Given the description of an element on the screen output the (x, y) to click on. 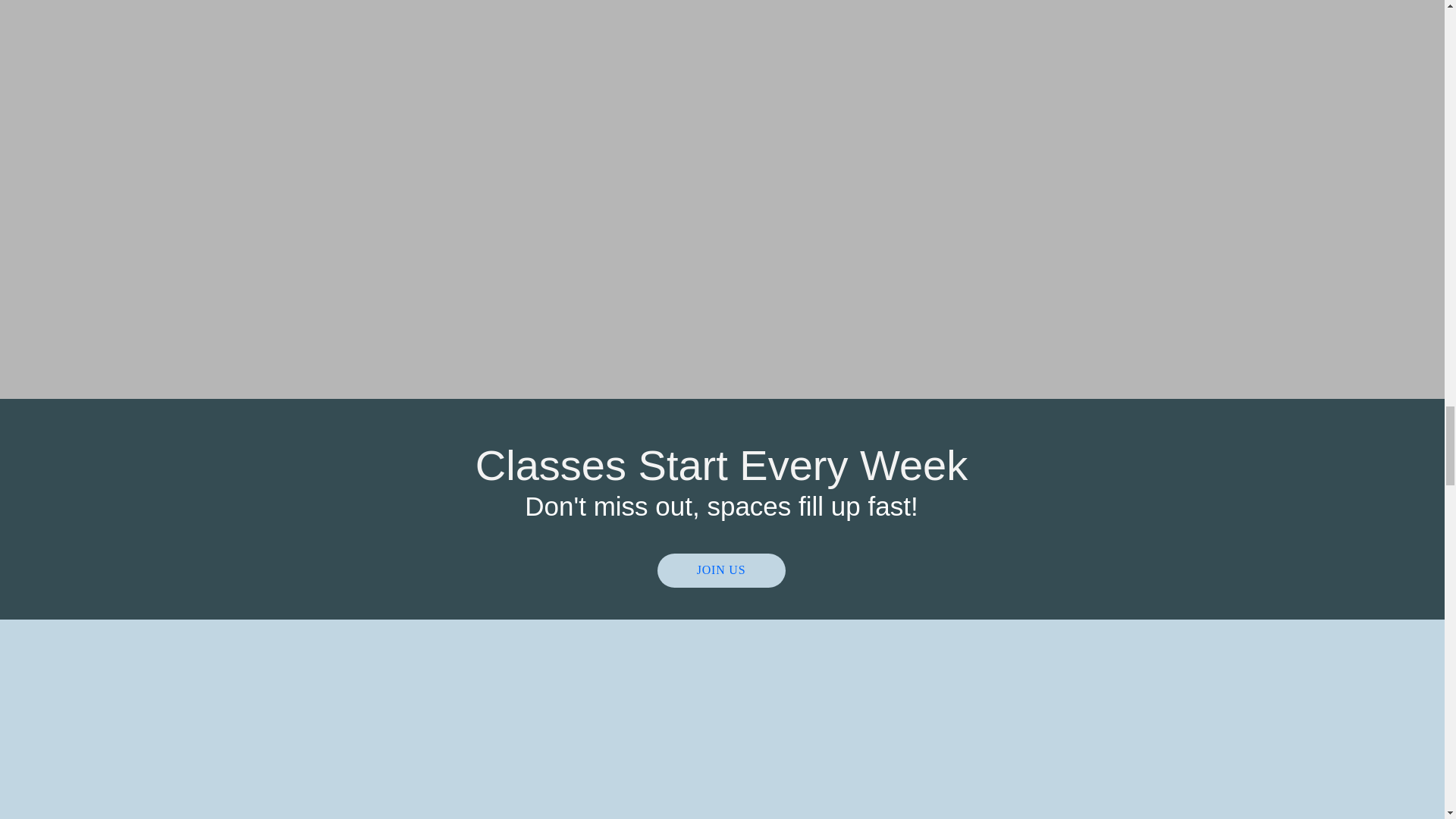
JOIN US (720, 570)
